Given the description of an element on the screen output the (x, y) to click on. 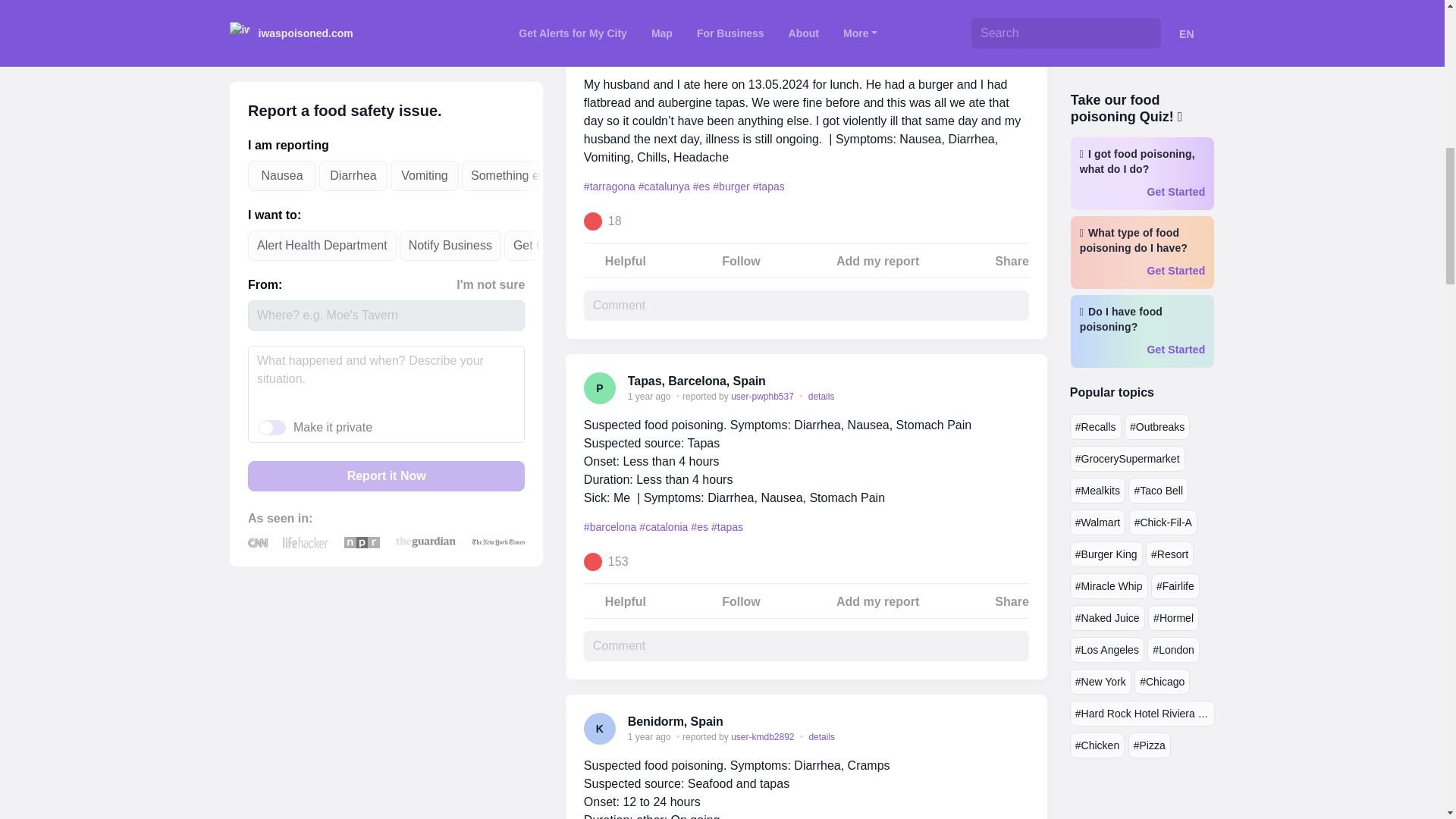
Restaurant Casa Balcells, Pla de la Seu, Tarragona, Spain (791, 40)
Copied (1019, 40)
Copied (1019, 381)
Tapas, Barcelona, Spain (696, 380)
Copied (1019, 721)
Benidorm, Spain (675, 721)
